Given the description of an element on the screen output the (x, y) to click on. 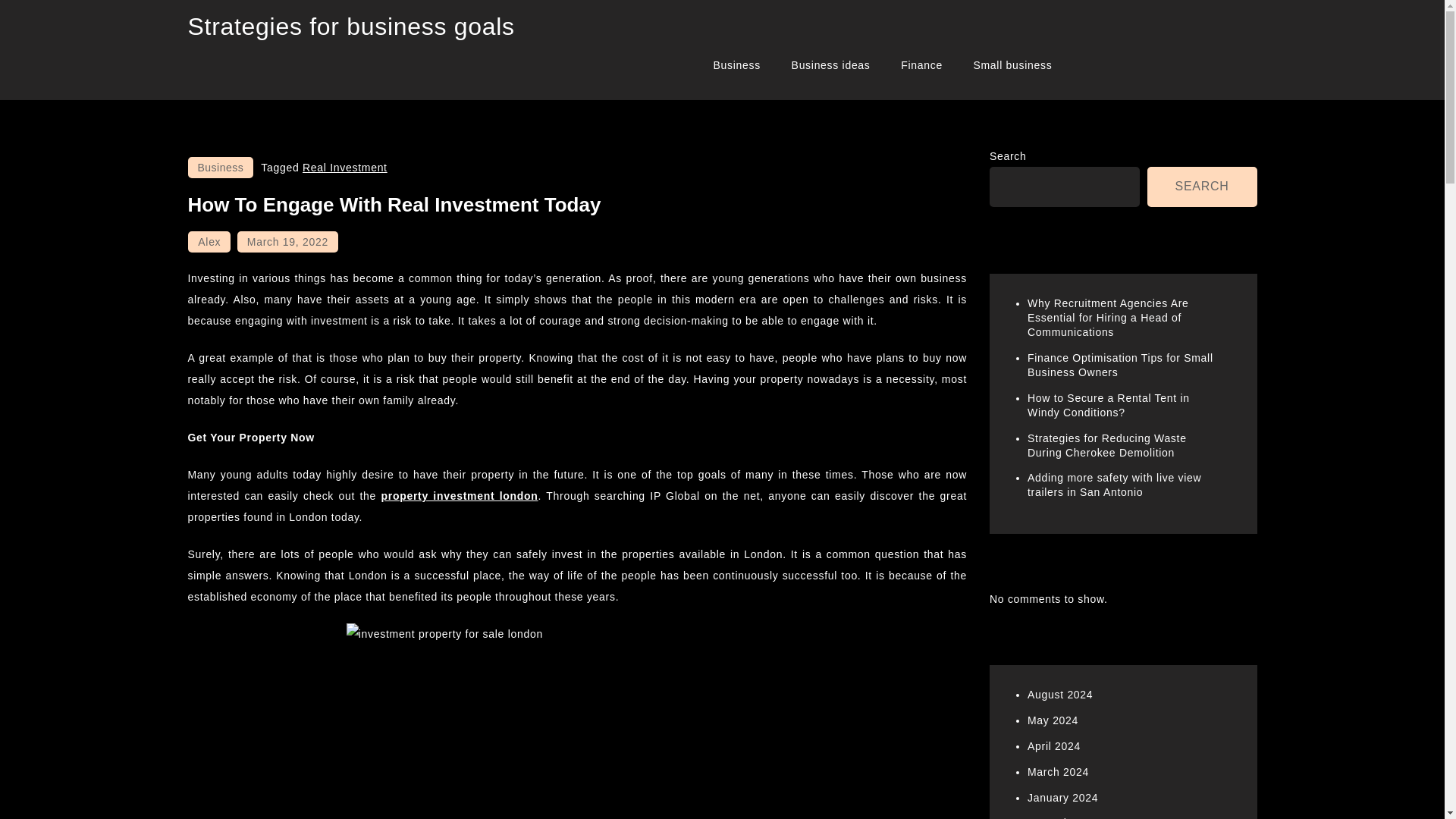
property investment london (459, 495)
How to Secure a Rental Tent in Windy Conditions? (1108, 405)
Business (220, 167)
Finance (921, 64)
Adding more safety with live view trailers in San Antonio (1114, 484)
Small business (1012, 64)
April 2024 (1053, 746)
March 2024 (1058, 771)
March 19, 2022 (287, 241)
